Given the description of an element on the screen output the (x, y) to click on. 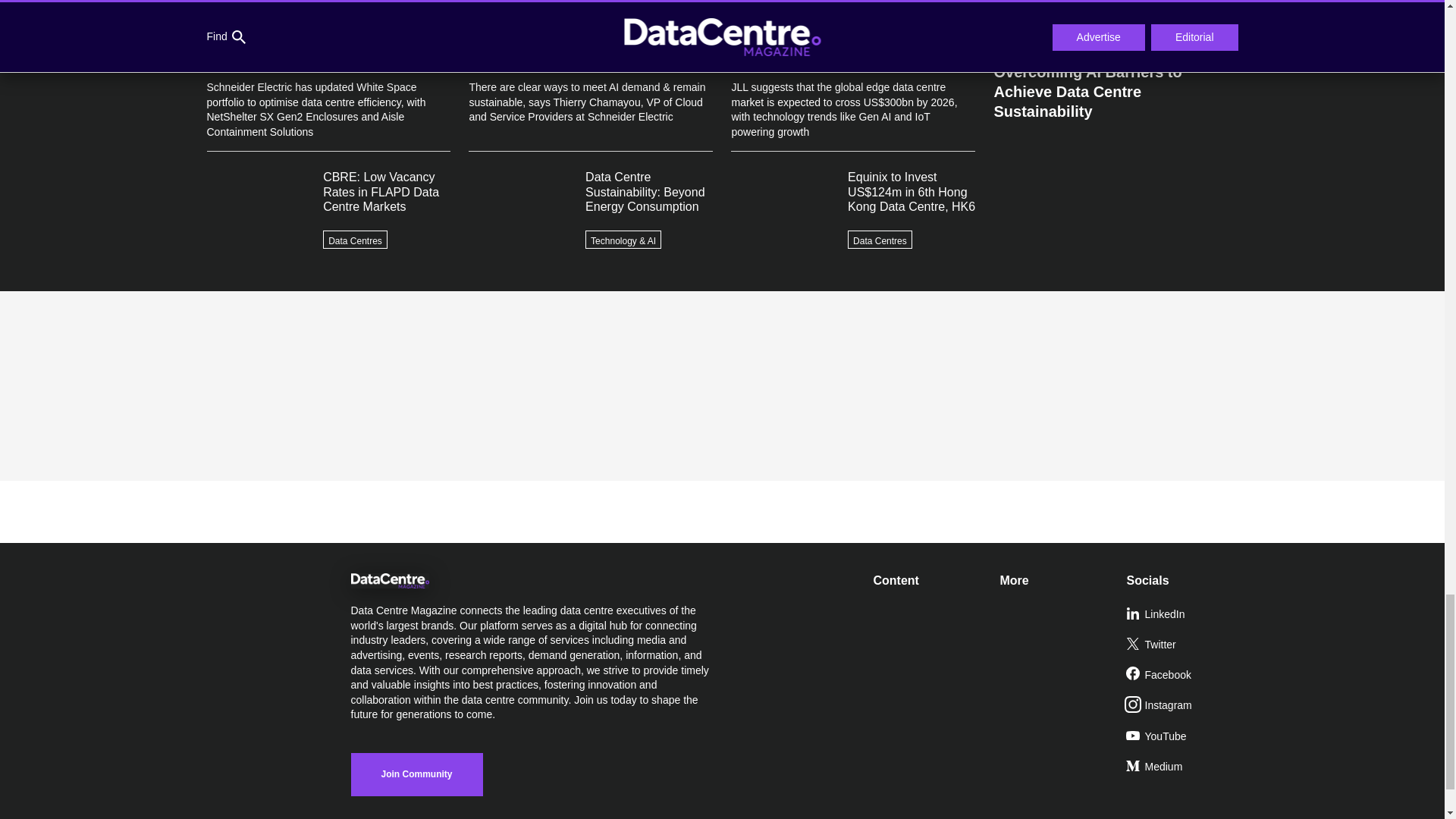
Join Community (415, 774)
Twitter (1182, 644)
LinkedIn (1182, 614)
Overcoming AI Barriers to Achieve Data Centre Sustainability (1114, 85)
Facebook (1182, 675)
AirTrunk Becomes DGX-Ready Colocation Partner of NVIDIA (1114, 24)
